Given the description of an element on the screen output the (x, y) to click on. 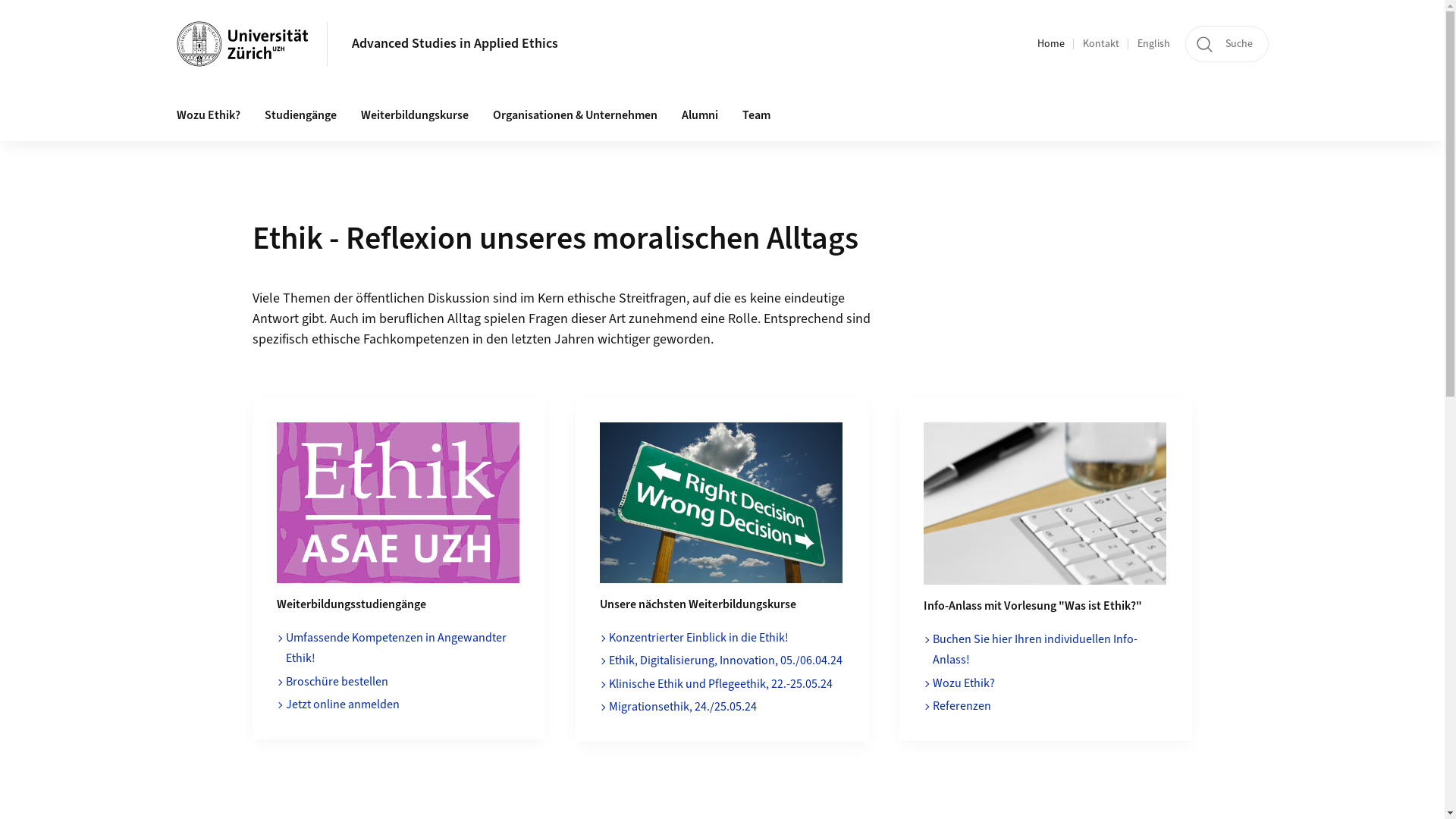
Alumni Element type: text (698, 116)
English Element type: text (1153, 44)
Umfassende Kompetenzen in Angewandter Ethik! Element type: text (395, 648)
Wozu Ethik? Element type: text (963, 682)
Ethik, Digitalisierung, Innovation, 05./06.04.24 Element type: text (725, 660)
Home Element type: text (1050, 44)
Konzentrierter Einblick in die Ethik! Element type: text (698, 637)
Migrationsethik, 24./25.05.24 Element type: text (682, 706)
Weiterbildungskurse Element type: text (414, 116)
Buchen Sie hier Ihren individuellen Info-Anlass! Element type: text (1034, 649)
Jetzt online anmelden Element type: text (341, 704)
Referenzen Element type: text (961, 705)
Advanced Studies in Applied Ethics Element type: text (454, 43)
Team Element type: text (755, 116)
Suche Element type: text (1225, 43)
Kontakt Element type: text (1100, 44)
Klinische Ethik und Pflegeethik, 22.-25.05.24 Element type: text (720, 683)
Wozu Ethik? Element type: text (207, 116)
Organisationen & Unternehmen Element type: text (574, 116)
